Given the description of an element on the screen output the (x, y) to click on. 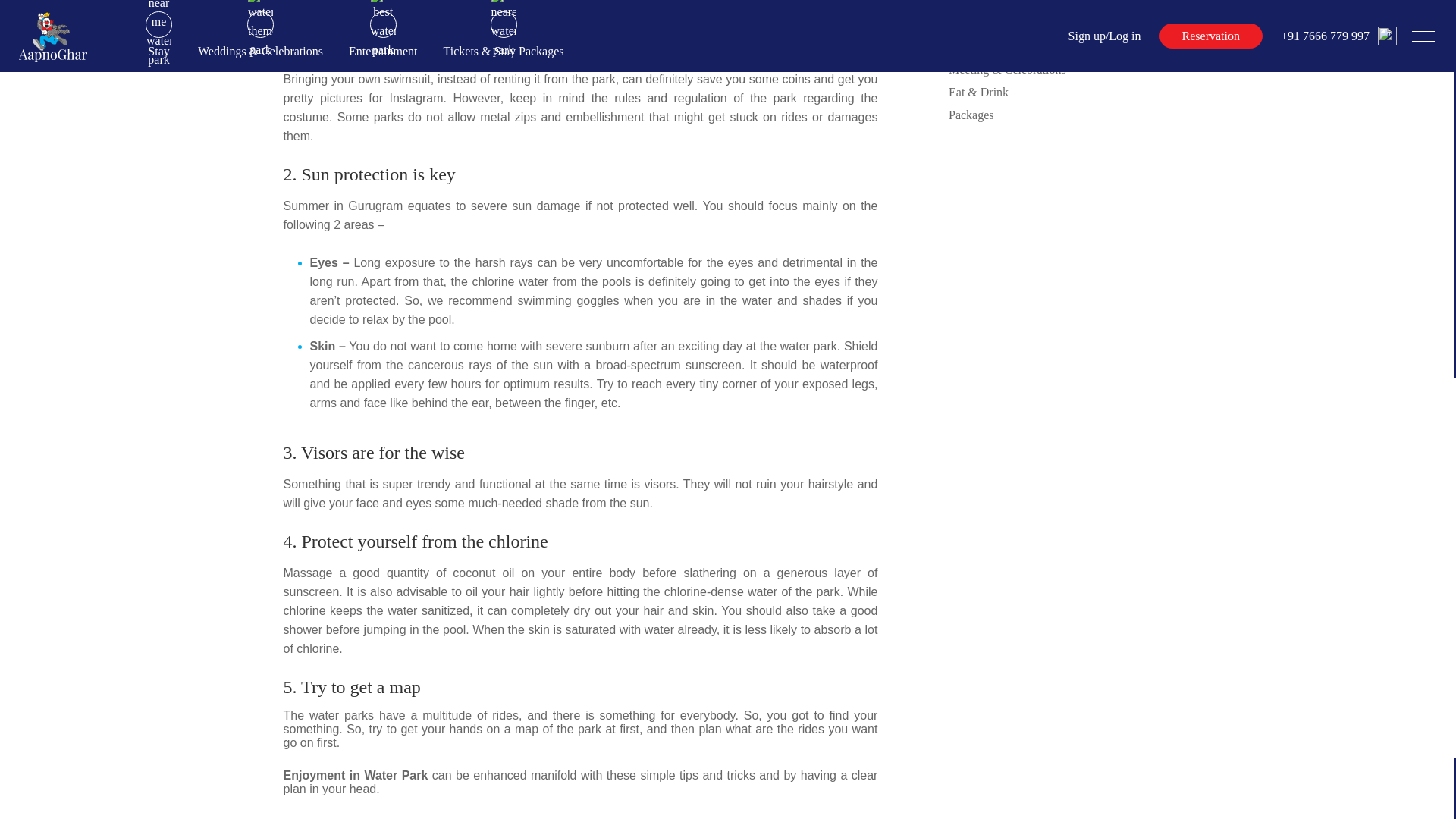
Activity Park (981, 46)
Water Park (976, 23)
best water park in Gurgaon. (488, 9)
Amusement Park (990, 3)
